Given the description of an element on the screen output the (x, y) to click on. 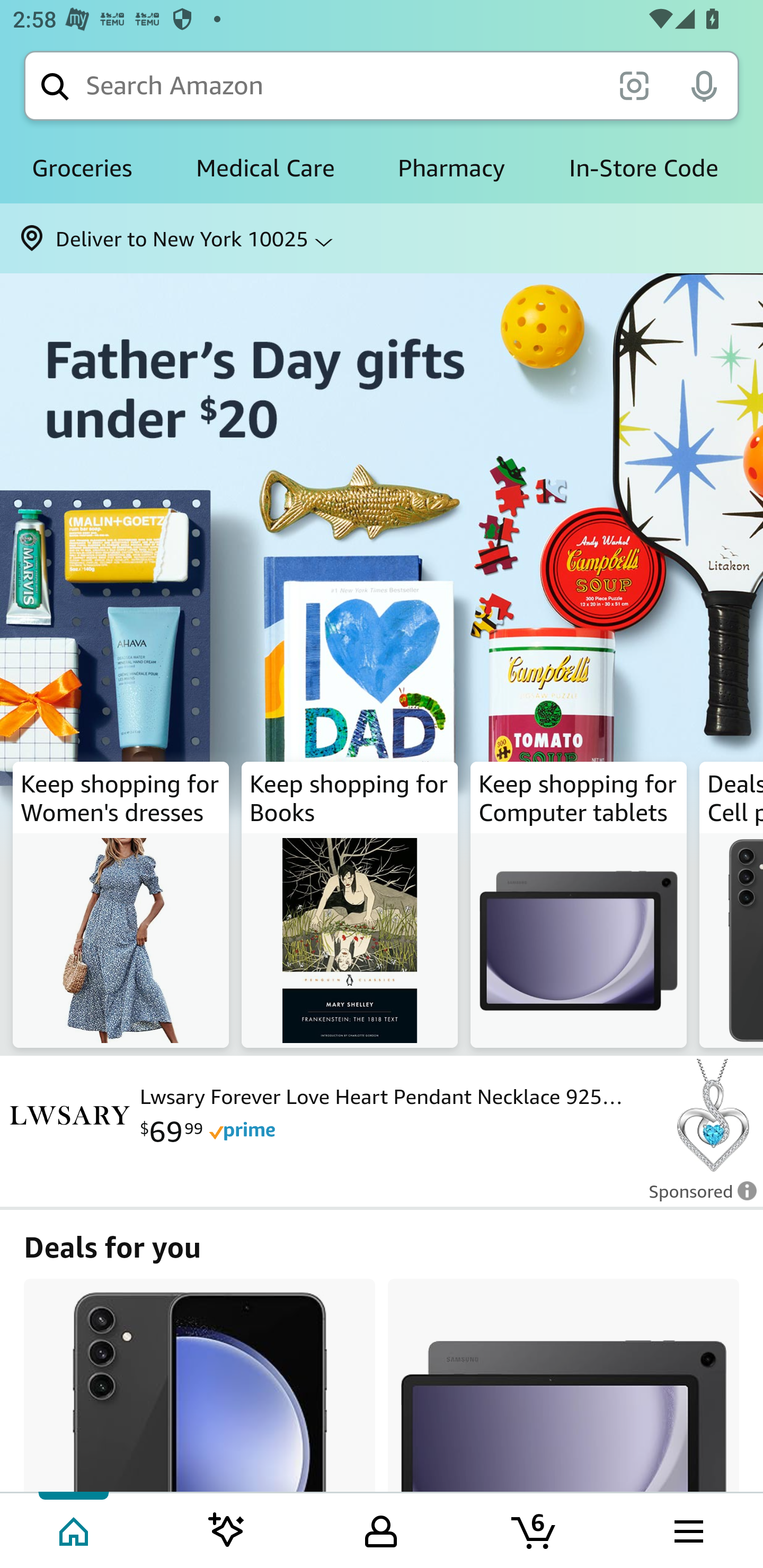
scan it (633, 85)
Groceries (82, 168)
Medical Care (265, 168)
Pharmacy (451, 168)
In-Store Code (643, 168)
Deliver to New York 10025 ⌵ (381, 237)
Father's Day gifts under $20 (381, 513)
Keep shopping for Books Keep shopping for Books (349, 904)
Leave feedback on Sponsored ad Sponsored  (696, 1196)
Home Tab 1 of 5 (75, 1529)
Inspire feed Tab 2 of 5 (227, 1529)
Your Amazon.com Tab 3 of 5 (380, 1529)
Cart 6 items Tab 4 of 5 6 (534, 1529)
Browse menu Tab 5 of 5 (687, 1529)
